Given the description of an element on the screen output the (x, y) to click on. 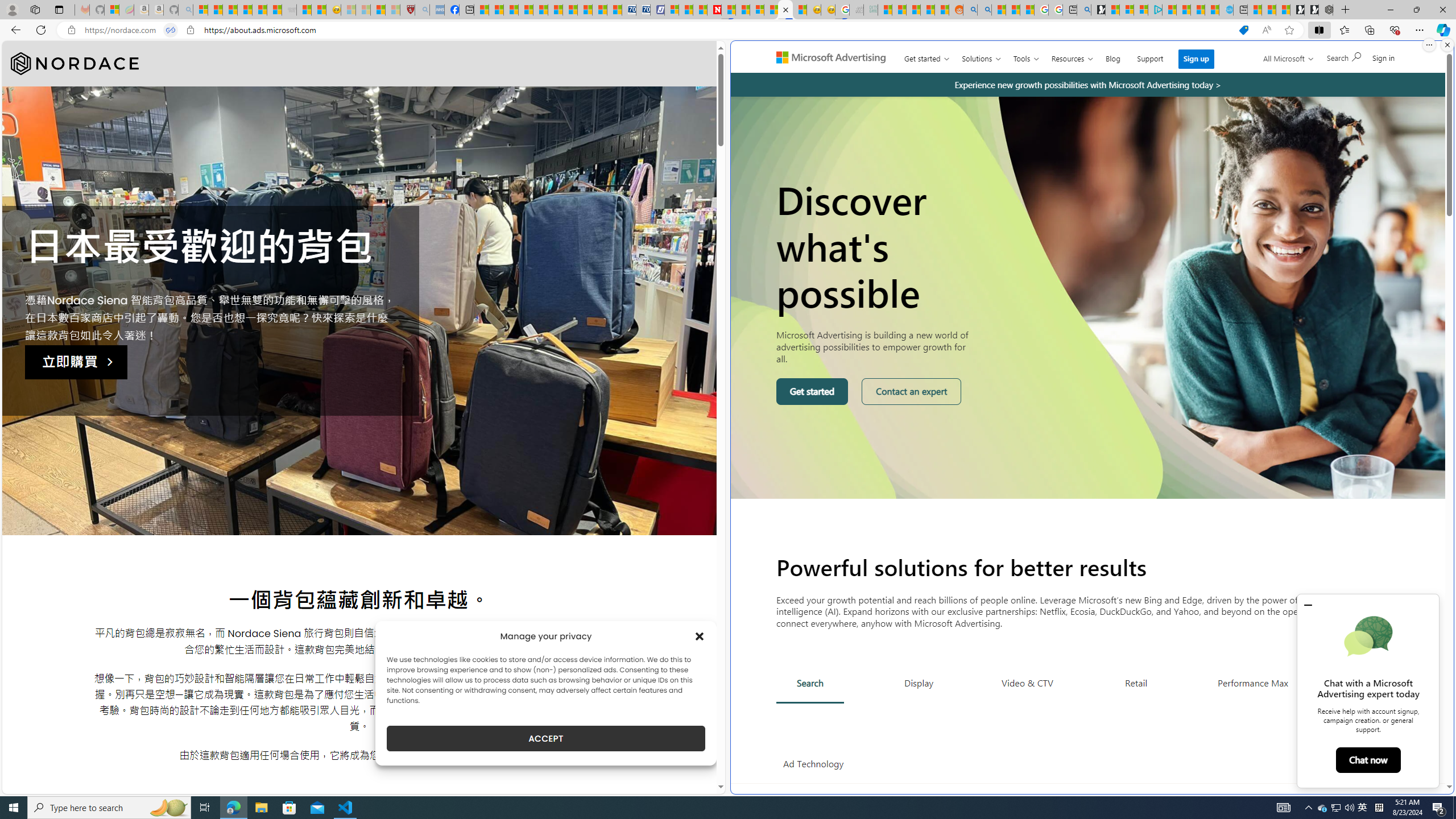
Contact an expert (911, 391)
Student Loan Update: Forgiveness Program Ends This Month (927, 9)
Sign up (1195, 58)
Video & CTV (1026, 682)
Climate Damage Becomes Too Severe To Reverse (525, 9)
